Given the description of an element on the screen output the (x, y) to click on. 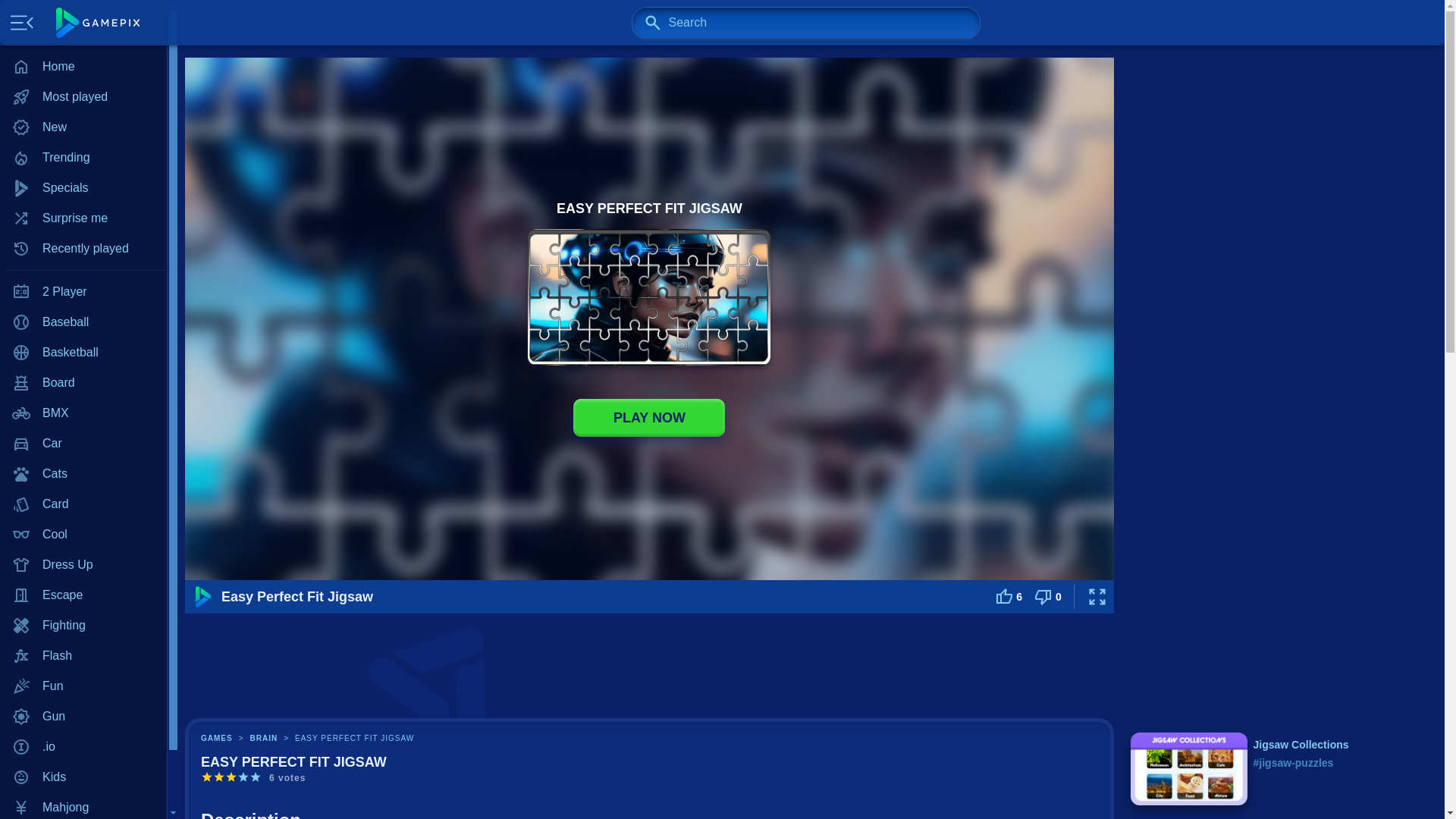
Escape (83, 594)
BMX (83, 413)
Recently played (83, 248)
Recently played (83, 248)
Fighting (83, 625)
Fighting (83, 625)
New (83, 127)
Specials (83, 187)
Specials (83, 187)
Car (83, 443)
